Given the description of an element on the screen output the (x, y) to click on. 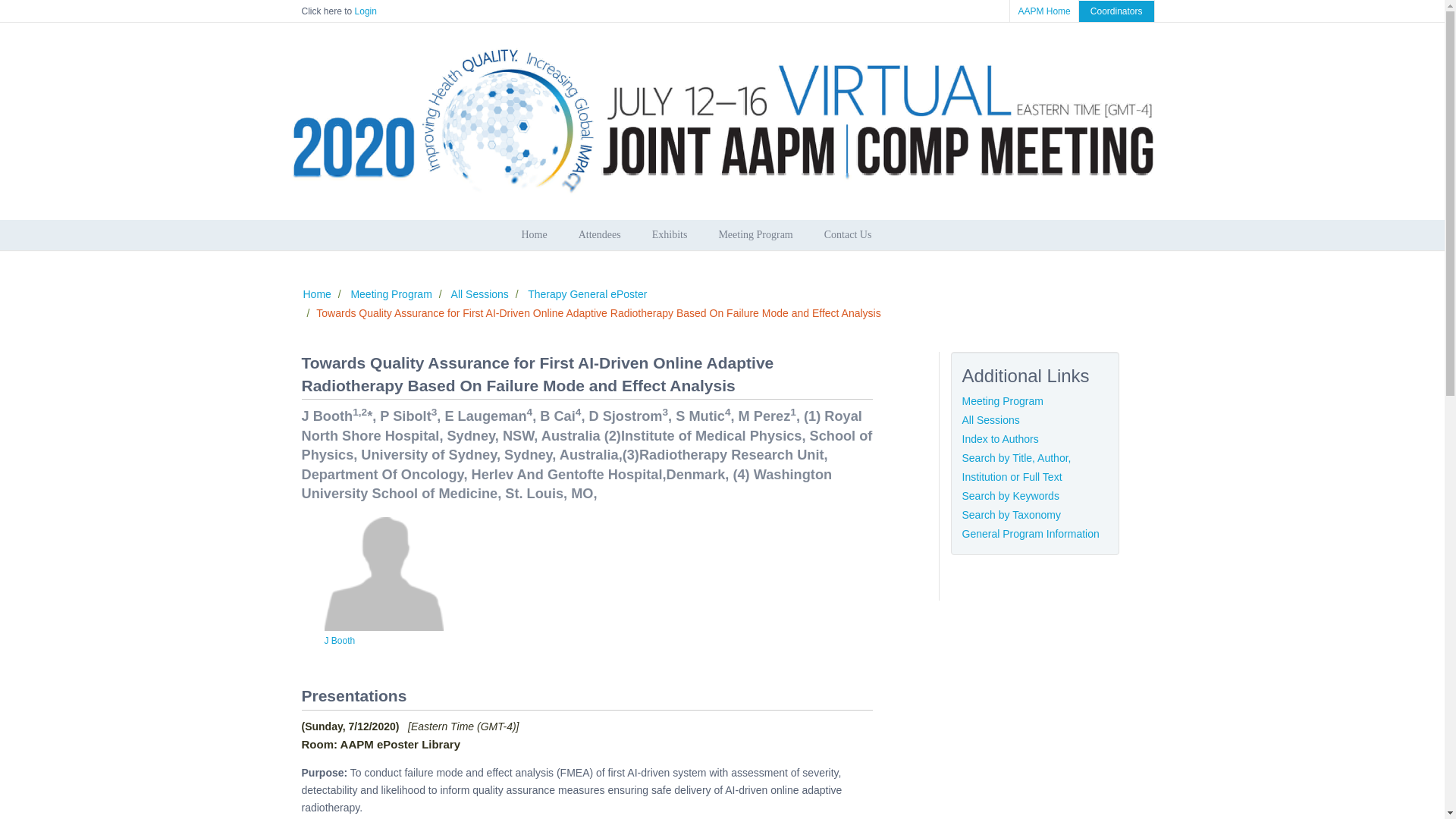
Home (722, 235)
